Given the description of an element on the screen output the (x, y) to click on. 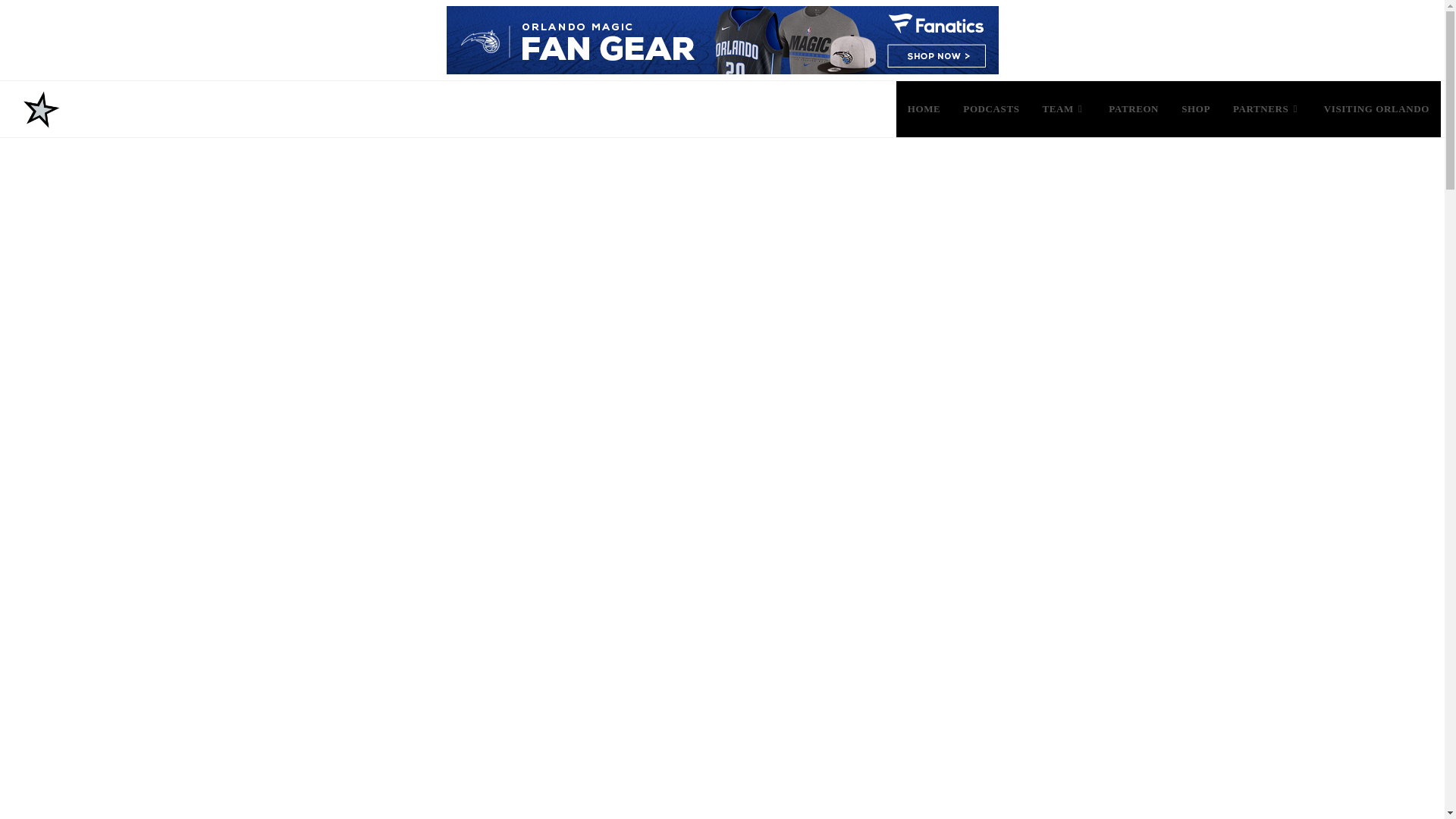
TEAM (1063, 109)
VISITING ORLANDO (1377, 109)
PODCASTS (991, 109)
HOME (924, 109)
PATREON (1133, 109)
SHOP (1195, 109)
PARTNERS (1267, 109)
